Given the description of an element on the screen output the (x, y) to click on. 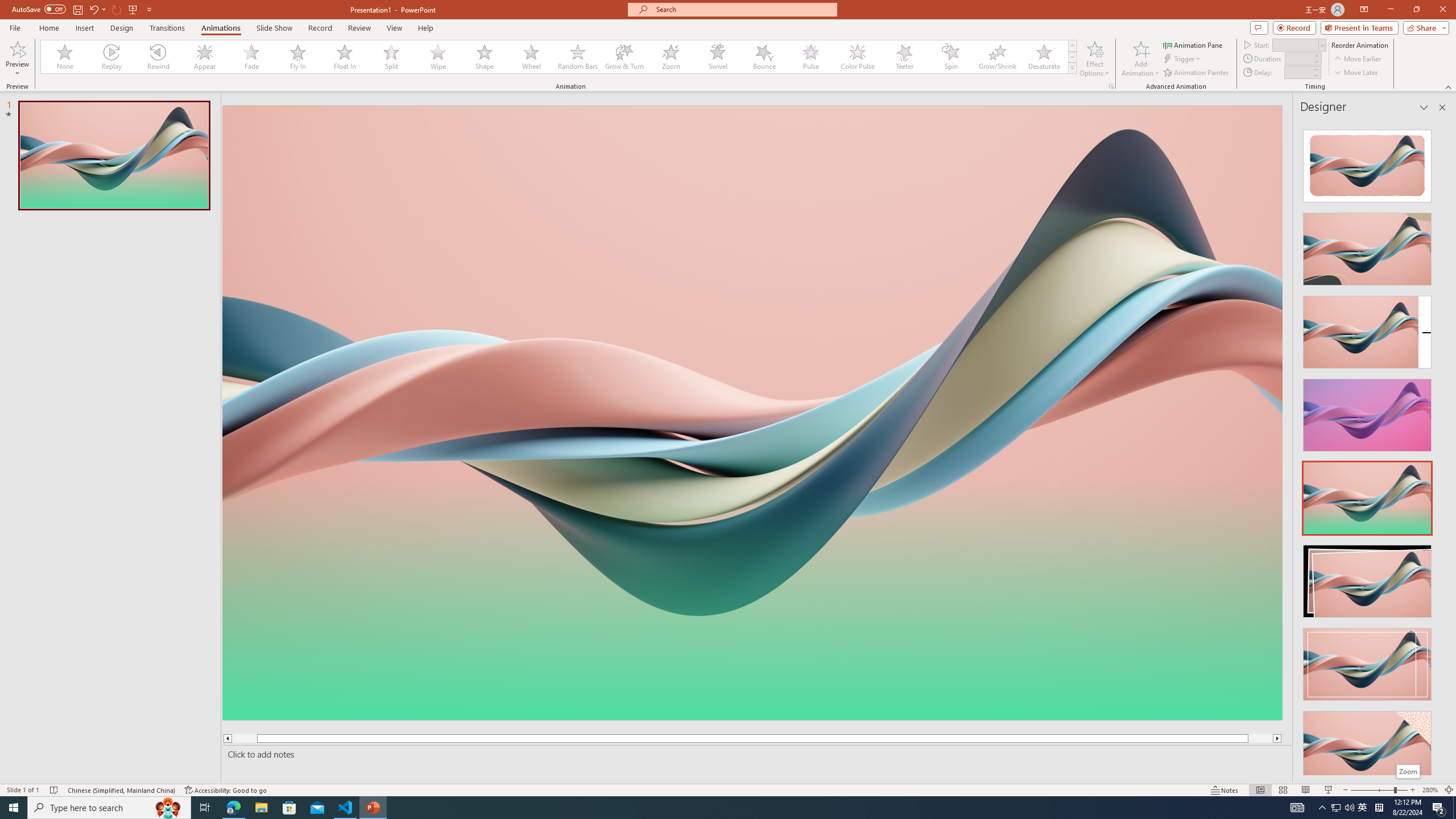
Fly In (298, 56)
Bounce (764, 56)
Replay (111, 56)
Wavy 3D art (752, 412)
